Given the description of an element on the screen output the (x, y) to click on. 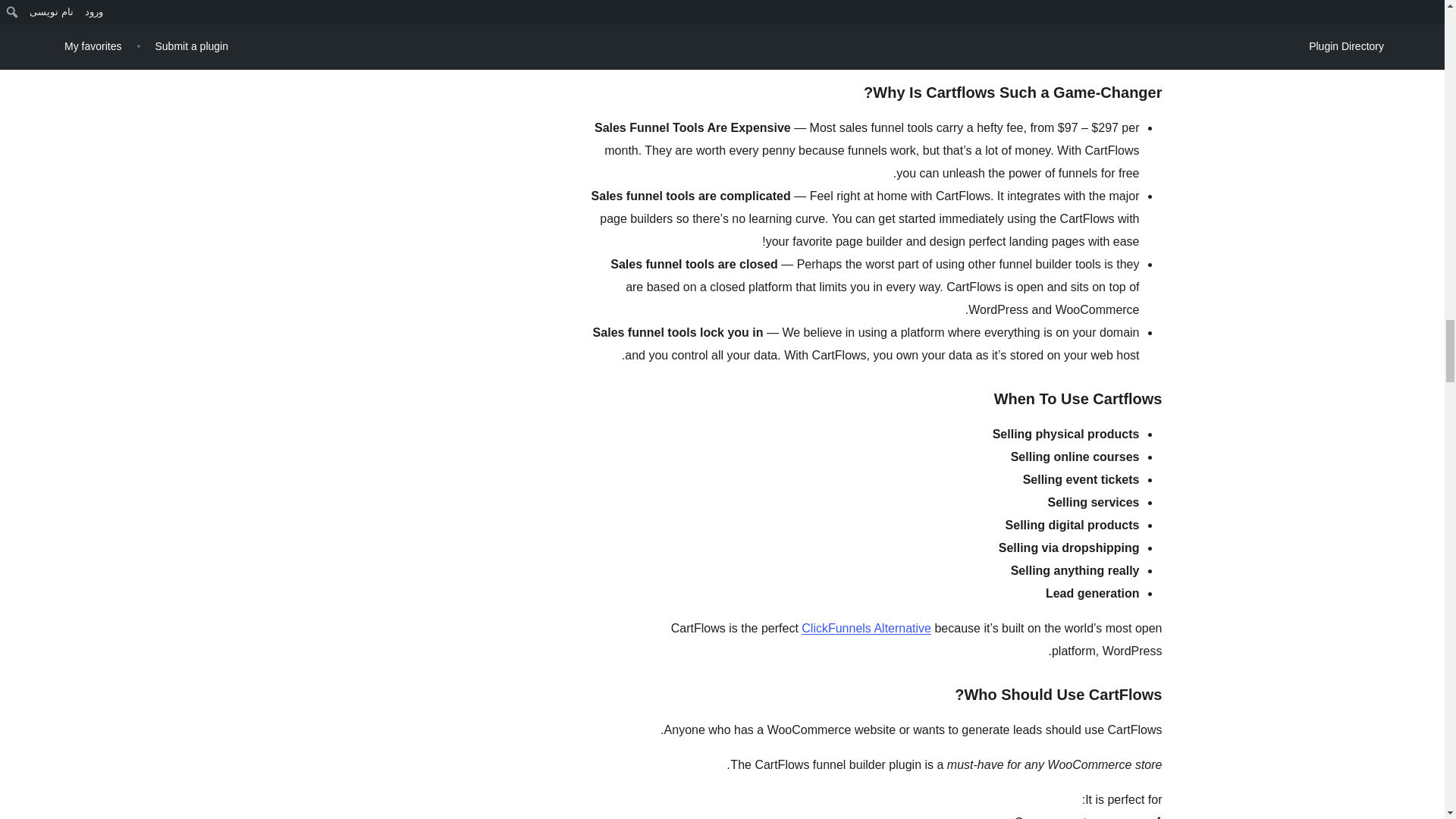
ClickFunnels Alternative (866, 627)
